Given the description of an element on the screen output the (x, y) to click on. 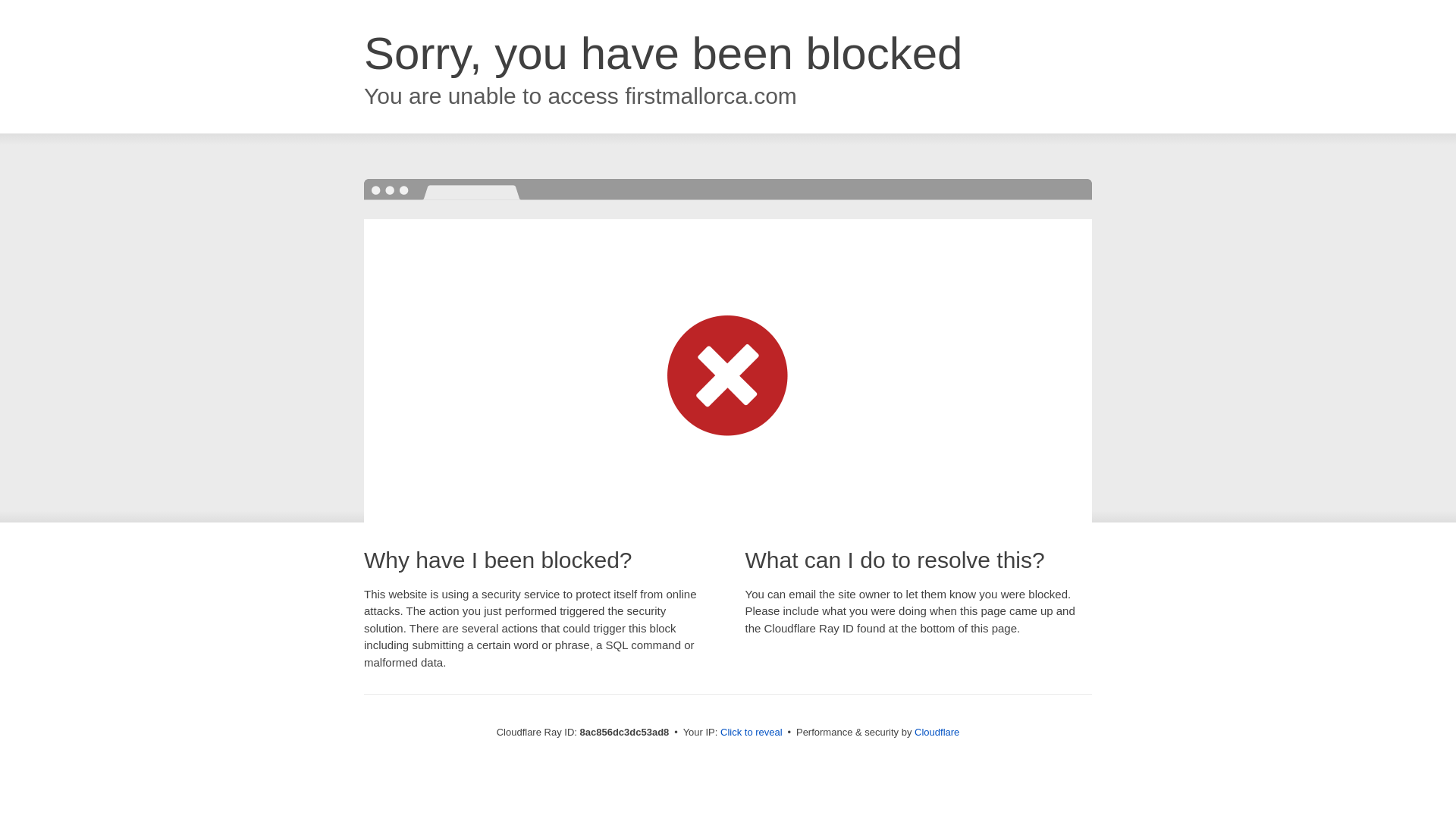
Click to reveal (751, 732)
Cloudflare (936, 731)
